Given the description of an element on the screen output the (x, y) to click on. 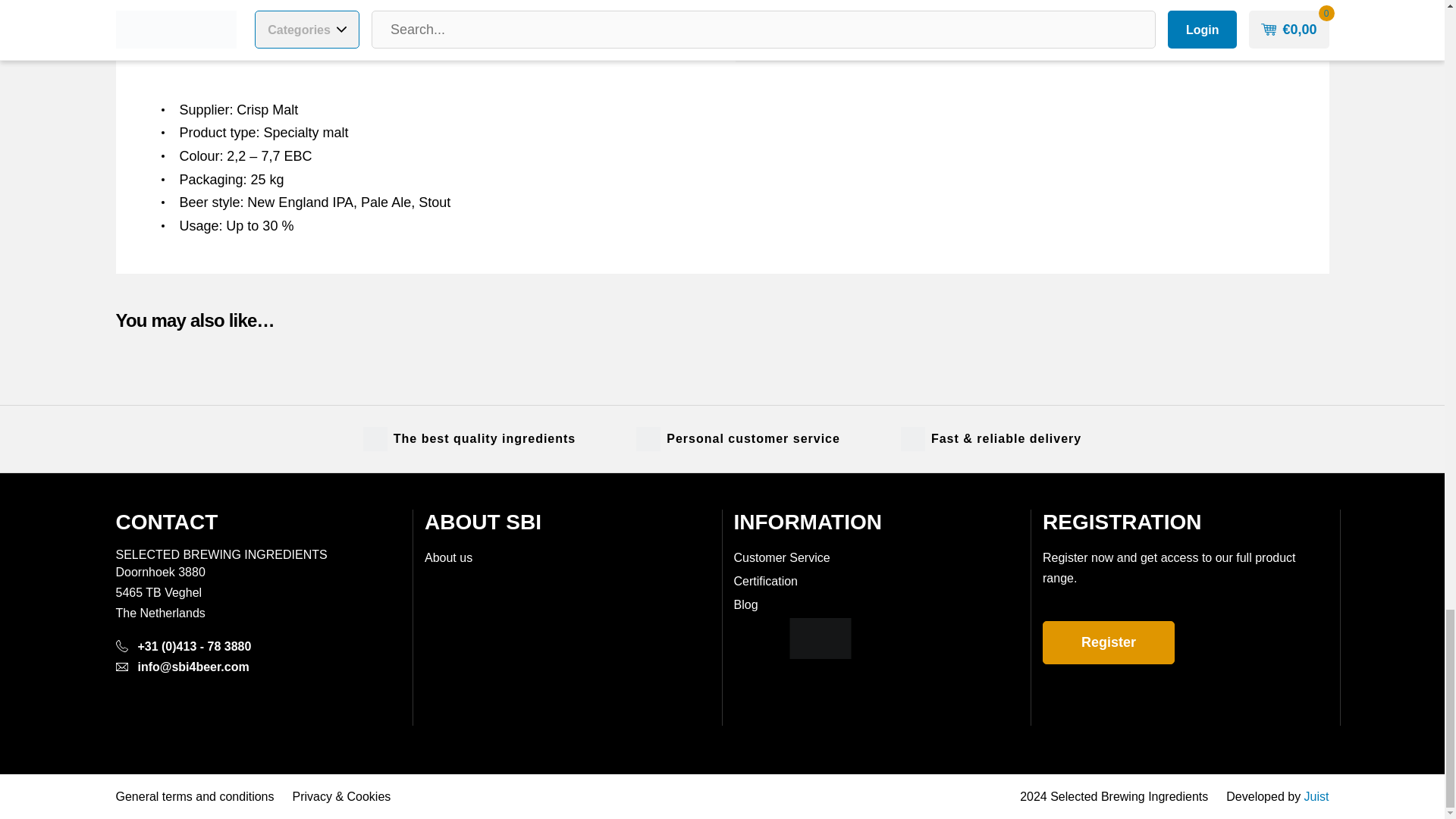
Ontwikkeld door Juist (1316, 796)
